Given the description of an element on the screen output the (x, y) to click on. 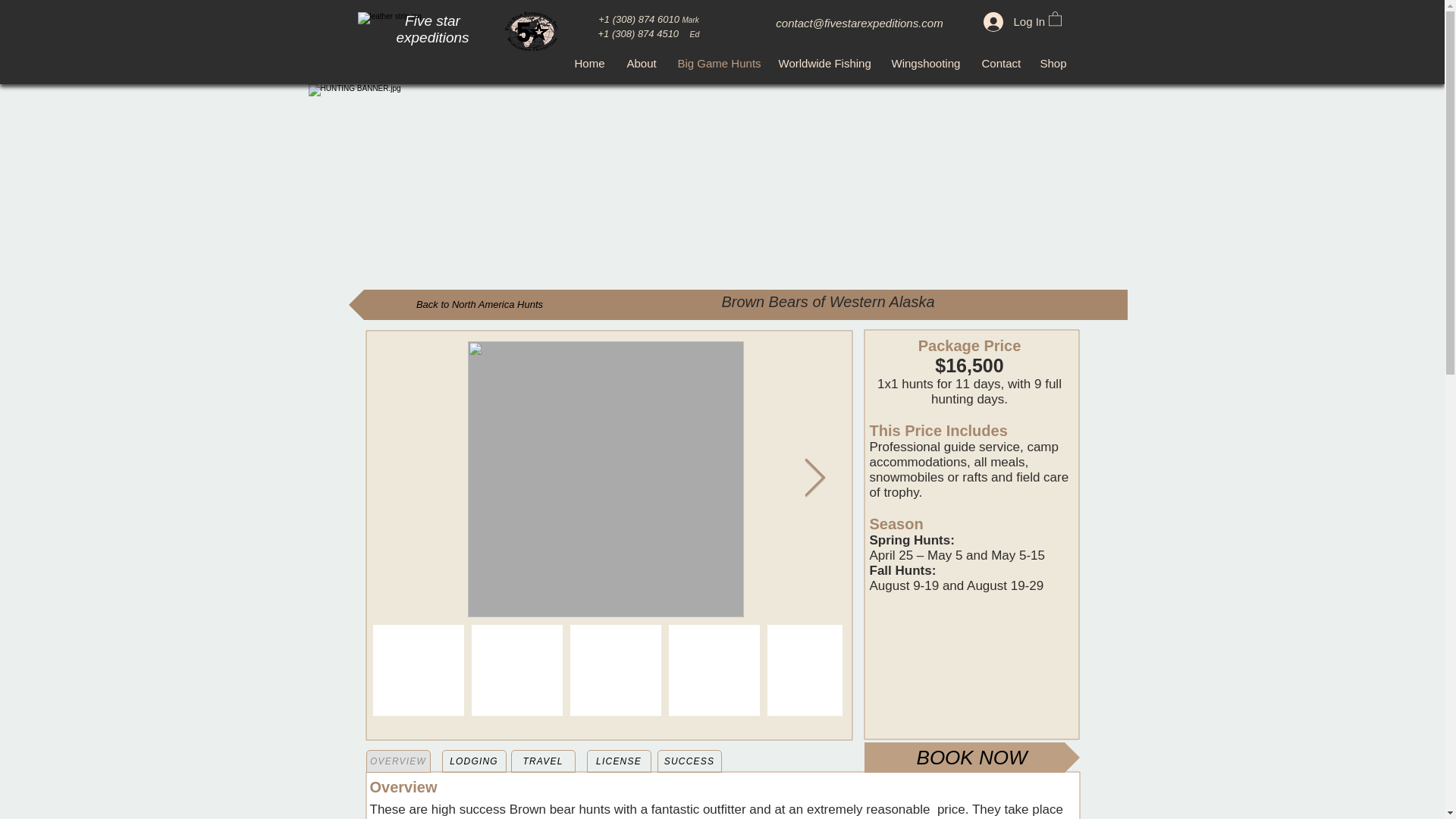
Big Game Hunts (716, 63)
About (640, 63)
Worldwide Fishing (823, 63)
Home (588, 63)
Log In (1002, 21)
